Given the description of an element on the screen output the (x, y) to click on. 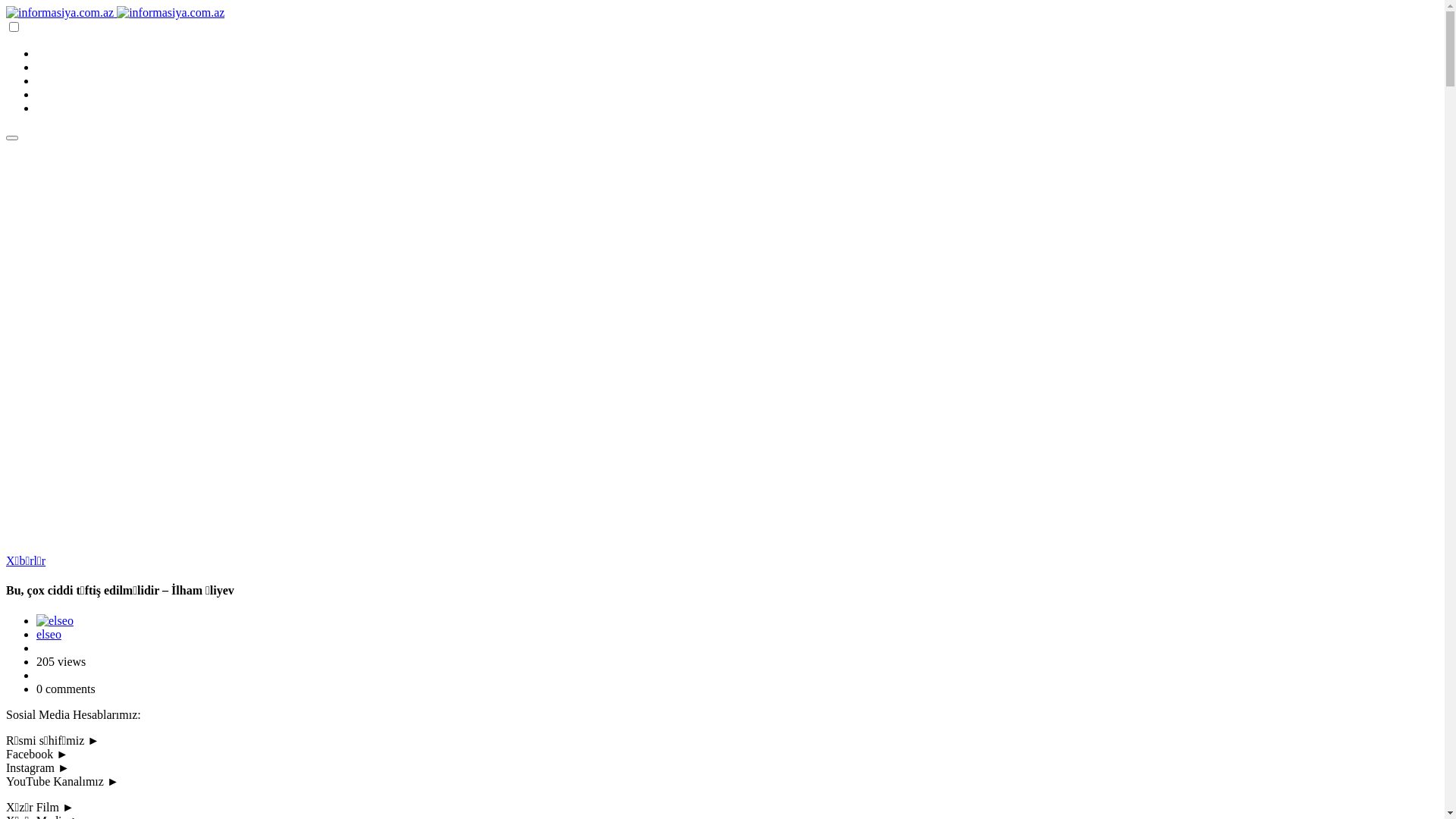
informasiya.com.az Element type: hover (170, 12)
informasiya.com.az Element type: hover (61, 12)
YouTube video player Element type: hover (370, 346)
elseo Element type: text (48, 633)
